Given the description of an element on the screen output the (x, y) to click on. 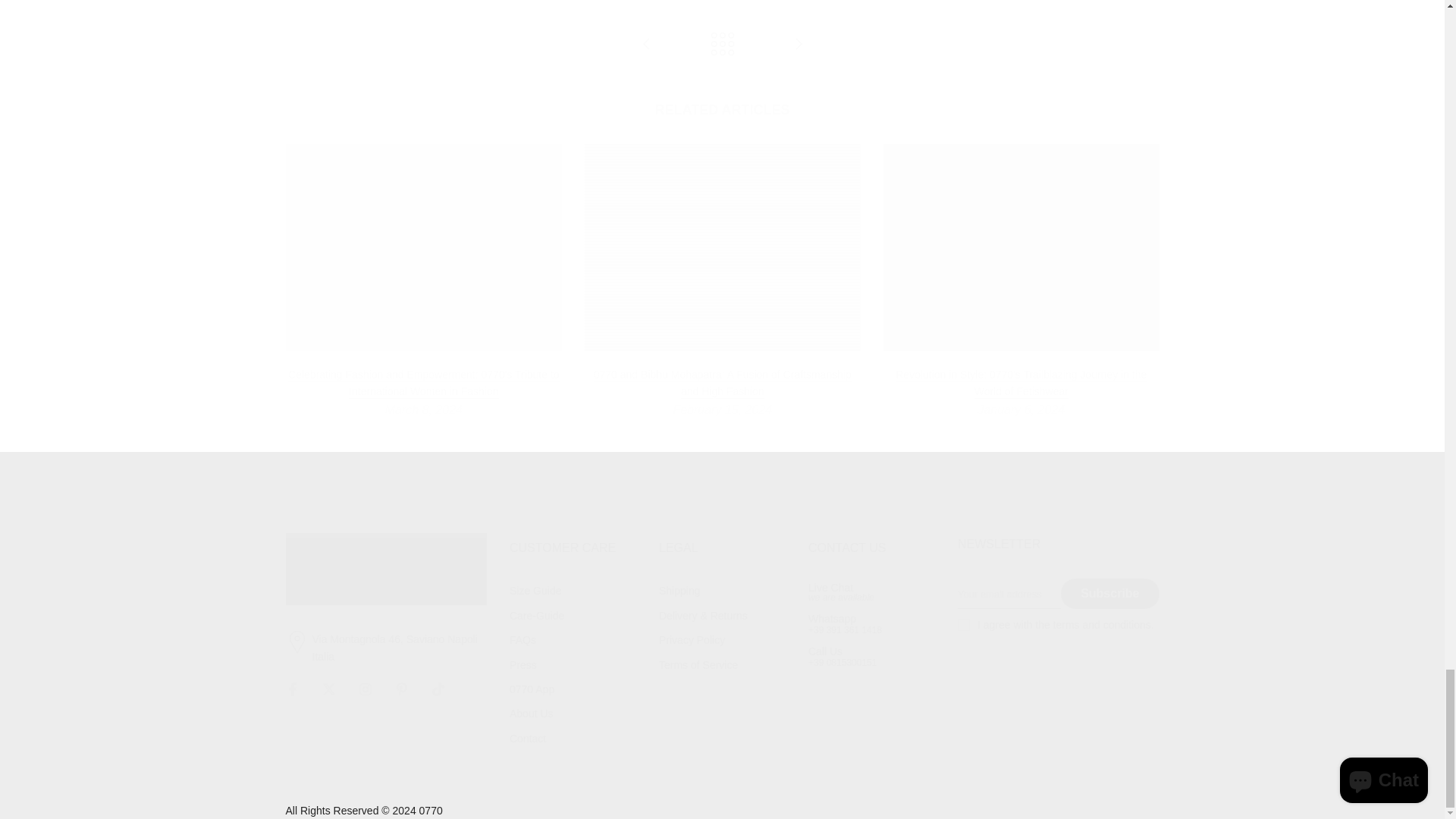
Back to ARTISTRYALCOVE (722, 44)
DICHOTOMY (646, 44)
